Given the description of an element on the screen output the (x, y) to click on. 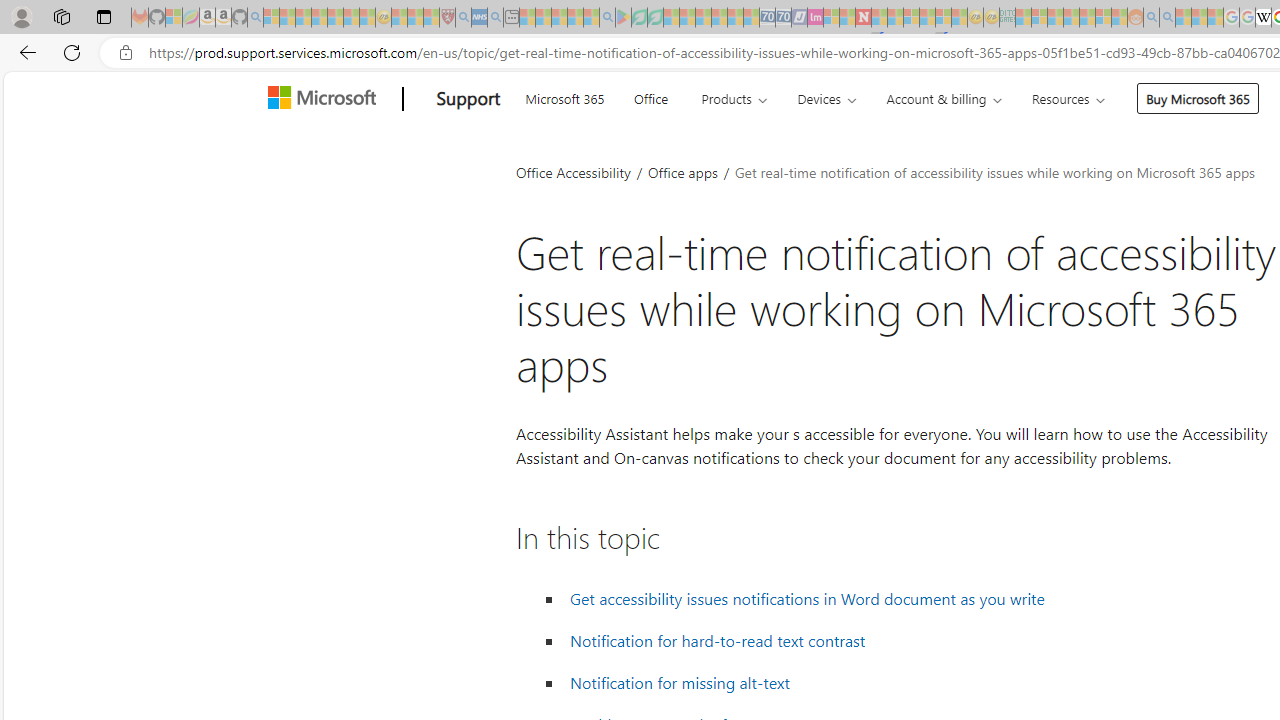
Buy Microsoft 365 (1197, 98)
Buy Microsoft 365 (1197, 97)
